Given the description of an element on the screen output the (x, y) to click on. 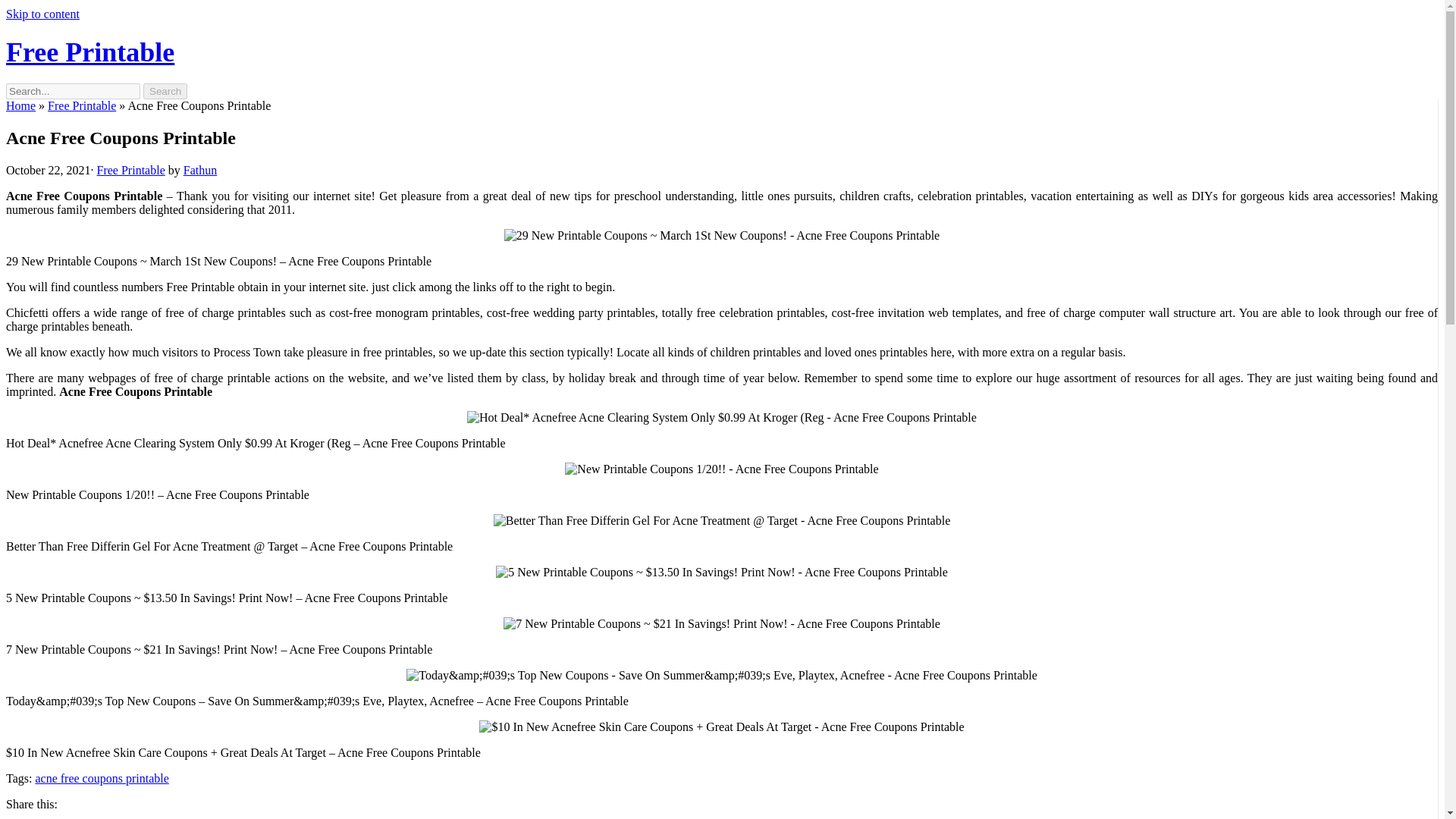
Free Printable (82, 105)
Home (19, 105)
acne free coupons printable (101, 778)
new printable coupons 1 20 acne free coupons printable (720, 468)
Search (164, 91)
Fathun (199, 169)
Free Printable (131, 169)
Search (164, 91)
Free Printable (89, 51)
